Given the description of an element on the screen output the (x, y) to click on. 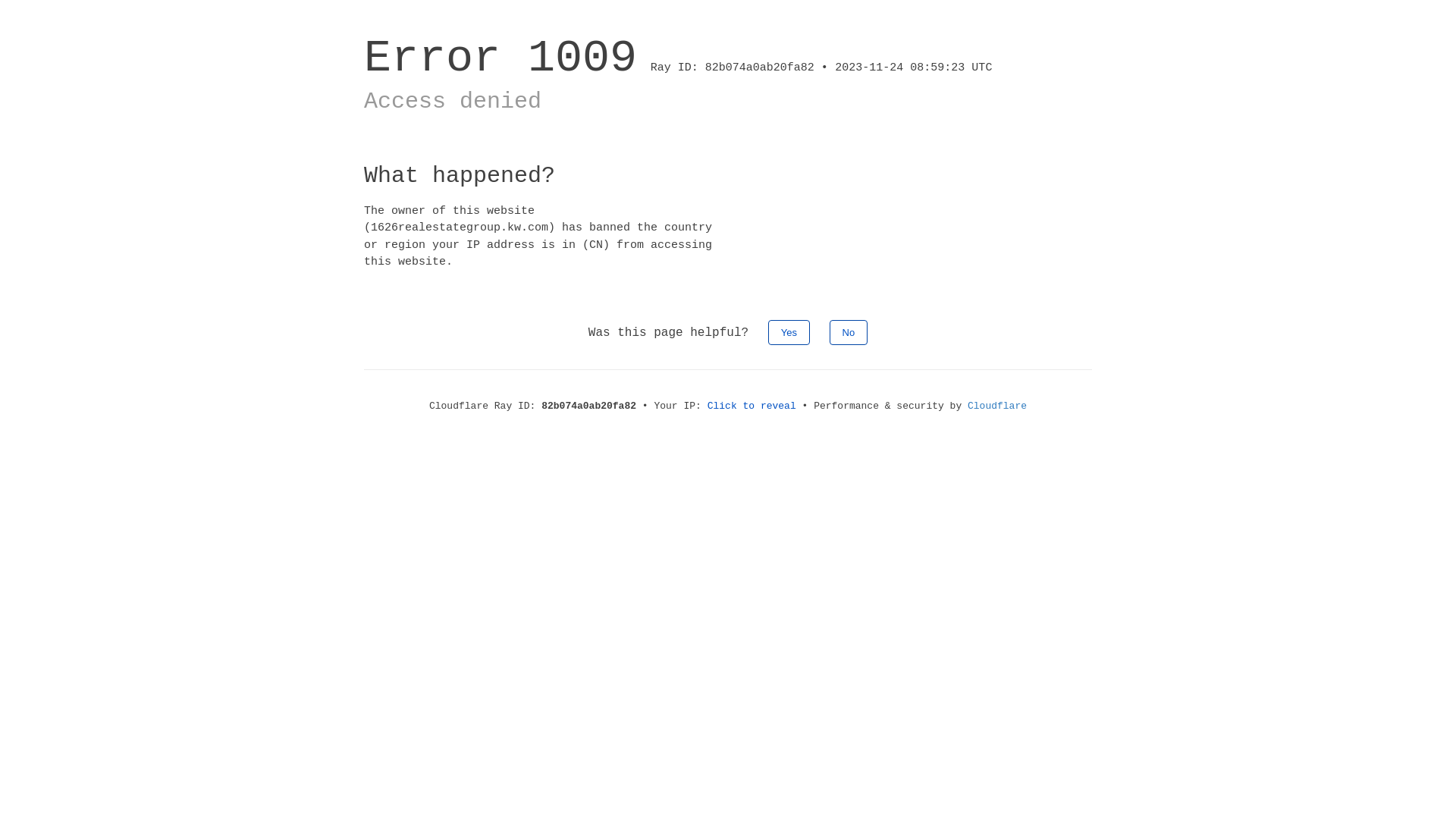
No Element type: text (848, 332)
Cloudflare Element type: text (996, 405)
Click to reveal Element type: text (751, 405)
Yes Element type: text (788, 332)
